Given the description of an element on the screen output the (x, y) to click on. 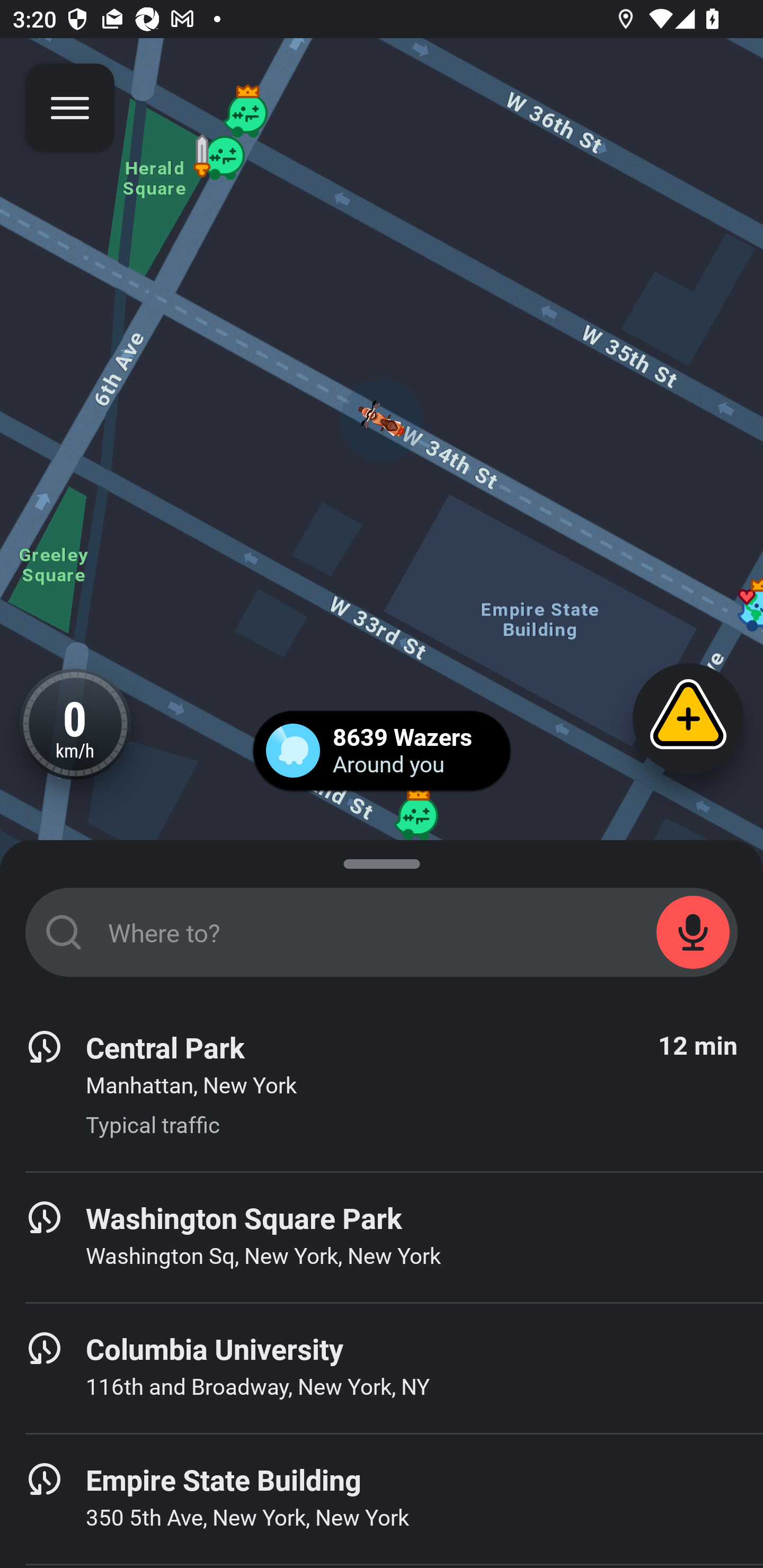
SUGGESTIONS_SHEET_DRAG_HANDLE (381, 860)
START_STATE_SEARCH_FIELD Where to? (381, 931)
